Given the description of an element on the screen output the (x, y) to click on. 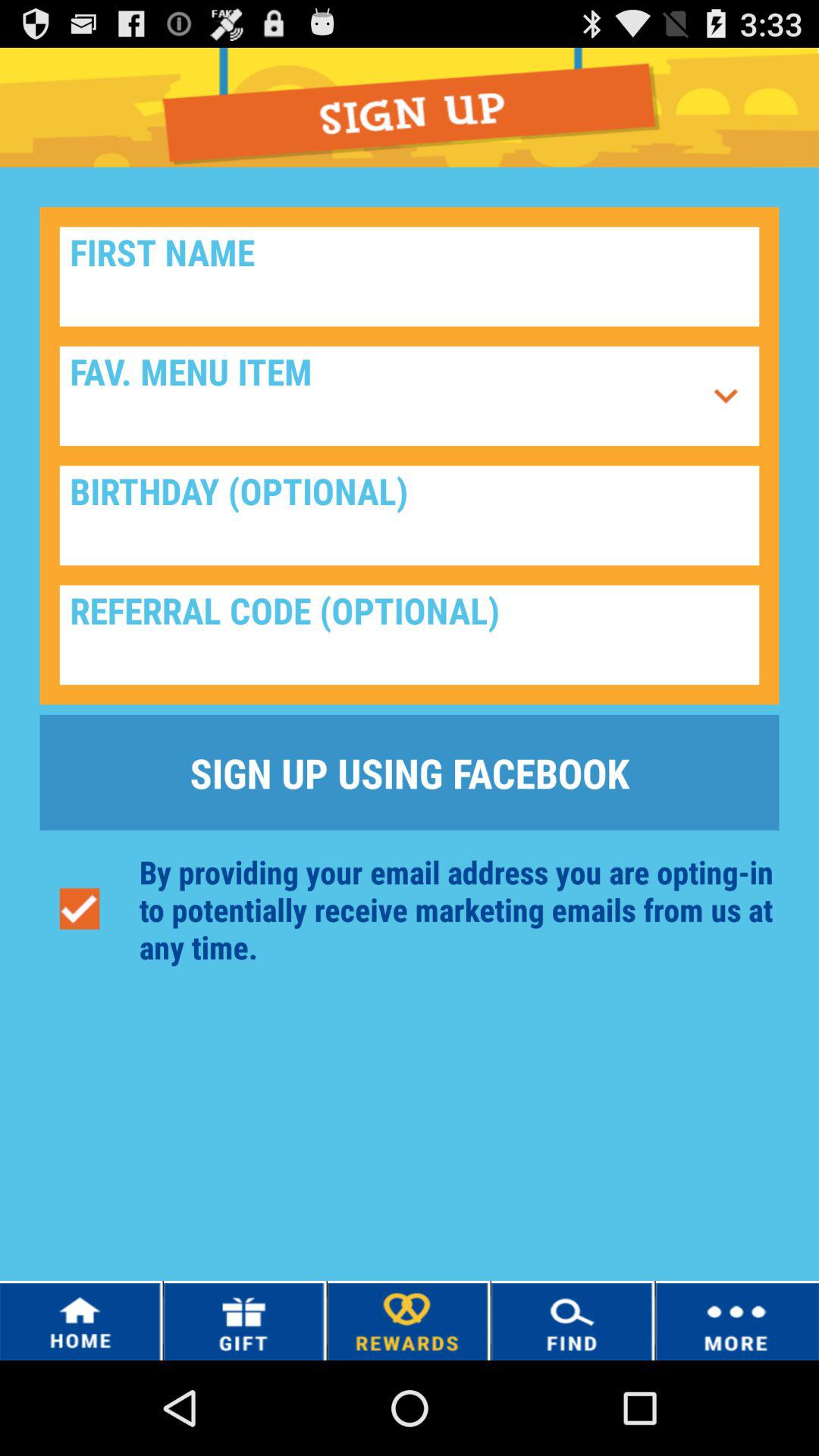
turn off icon at the top right corner (725, 395)
